Given the description of an element on the screen output the (x, y) to click on. 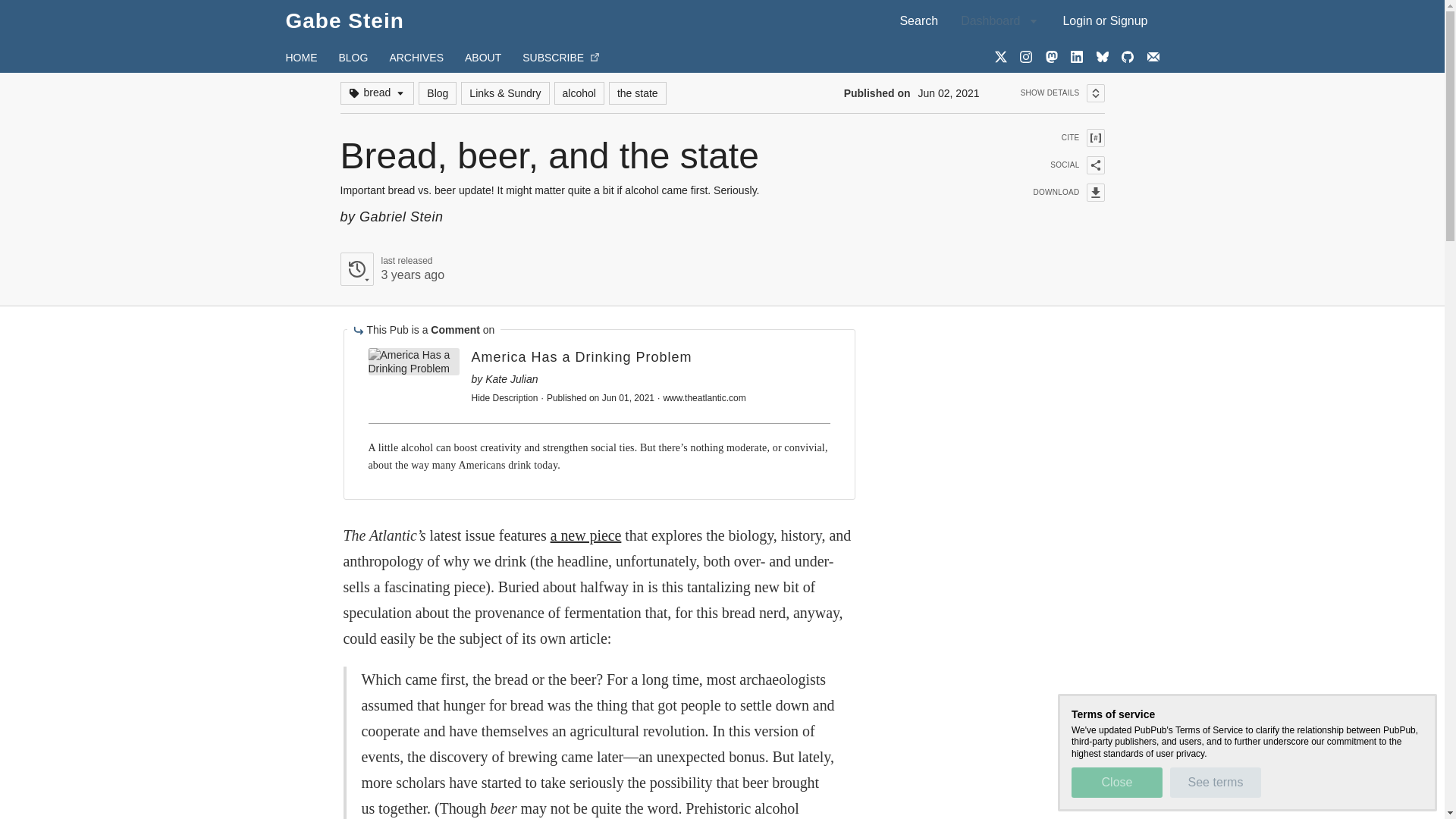
HOME (633, 82)
ABOUT (301, 57)
SOCIAL (482, 57)
Login or Signup (1058, 165)
CITE (1104, 20)
the state (1058, 137)
2021-06-02 00:04 (637, 92)
alcohol (412, 274)
Search (579, 92)
Blog (918, 20)
bread (438, 92)
ARCHIVES (376, 92)
BLOG (416, 57)
